Given the description of an element on the screen output the (x, y) to click on. 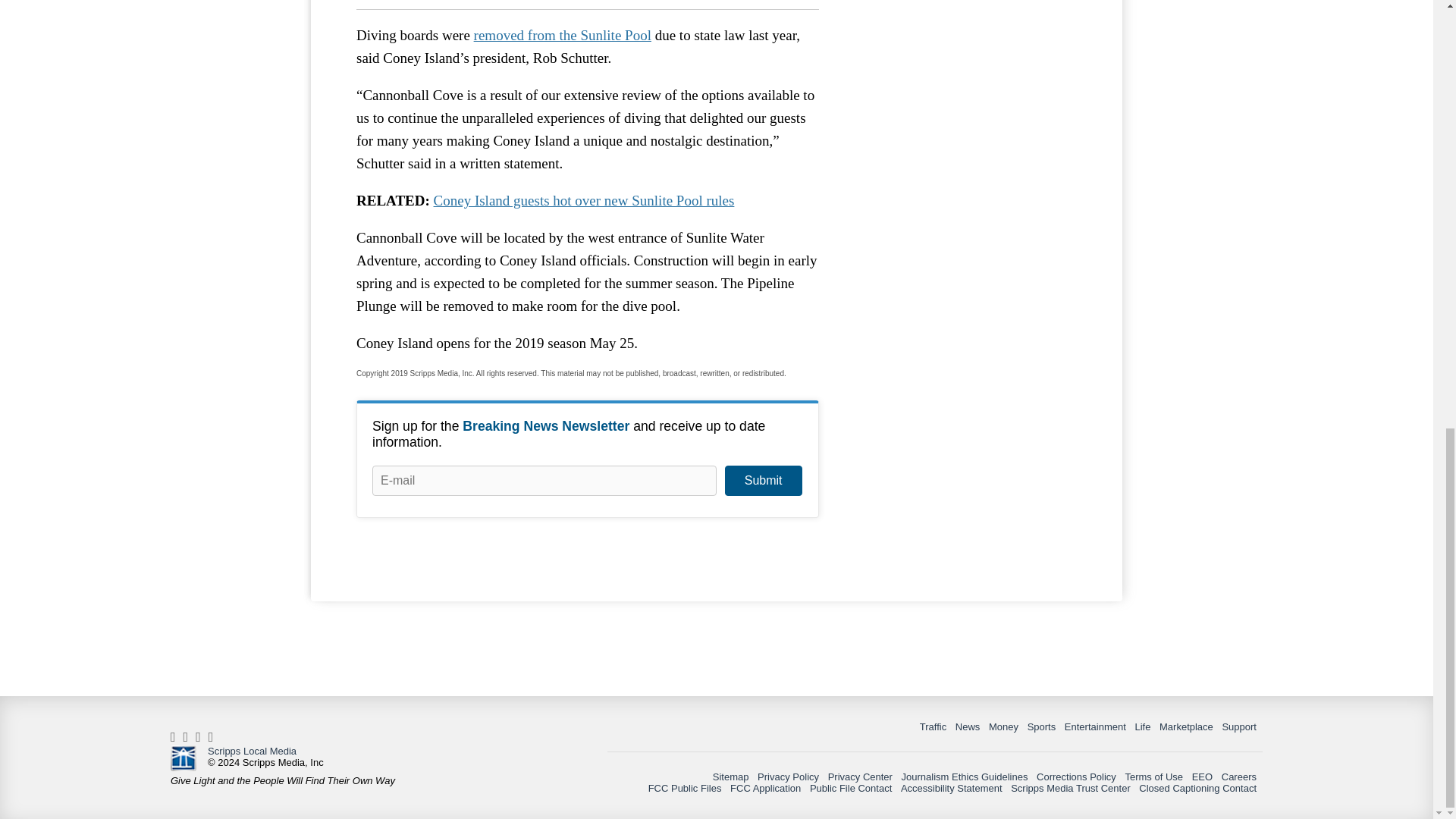
Submit (763, 481)
